Given the description of an element on the screen output the (x, y) to click on. 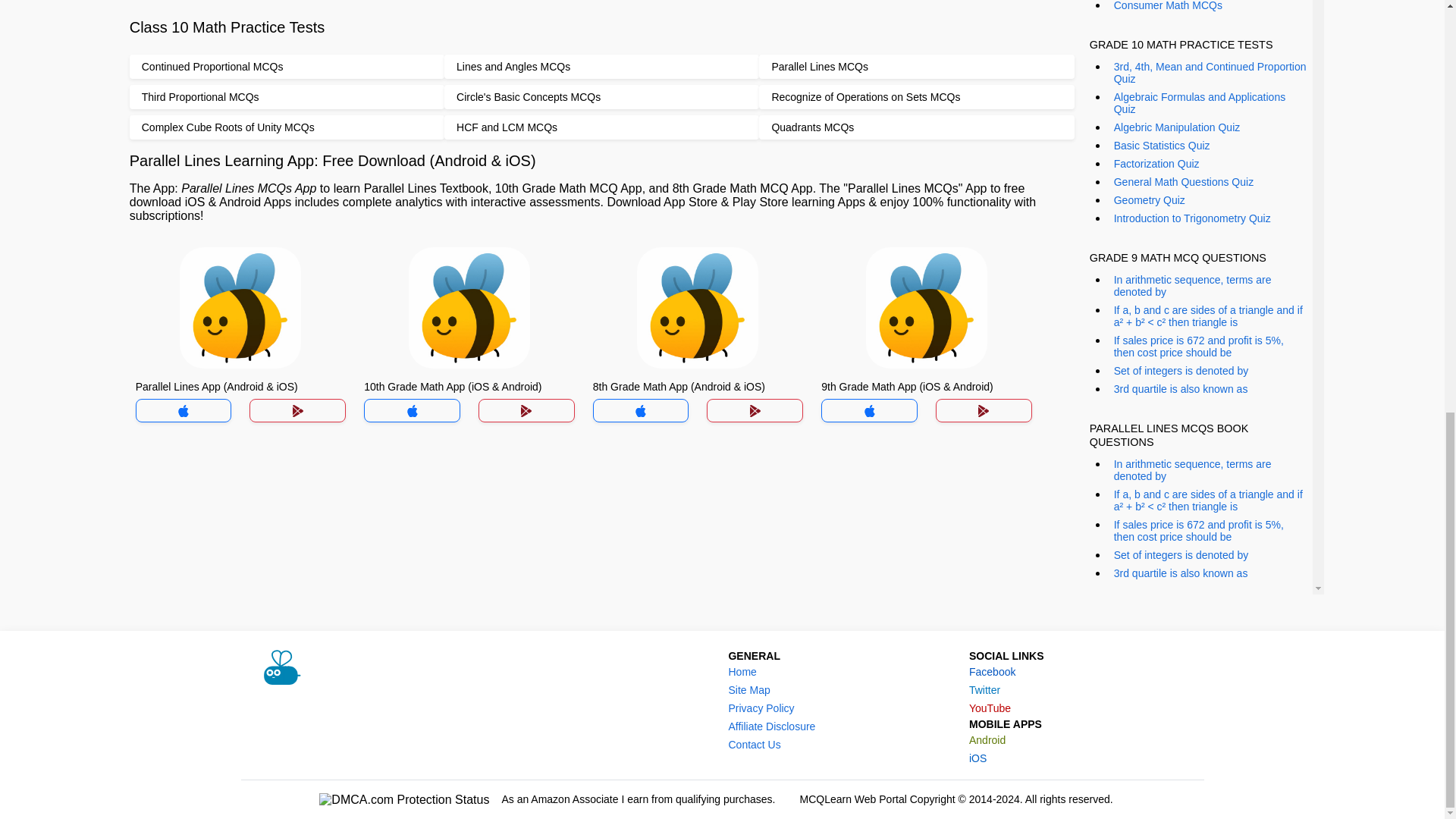
DMCA.com Protection Status (403, 799)
